Given the description of an element on the screen output the (x, y) to click on. 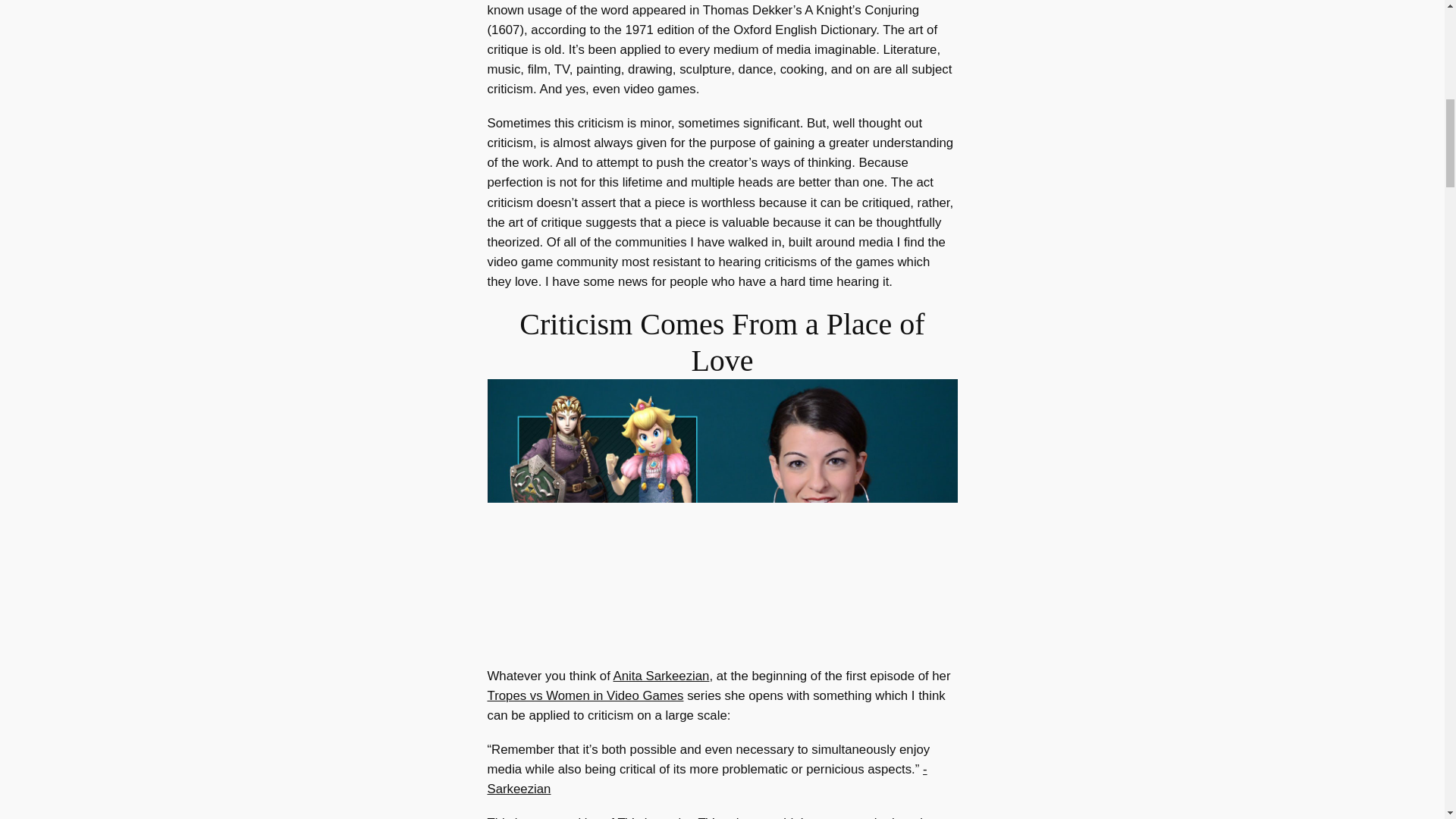
Tropes vs Women in Video Games (584, 695)
Anita Sarkeezian (661, 676)
-Sarkeezian (706, 779)
